Given the description of an element on the screen output the (x, y) to click on. 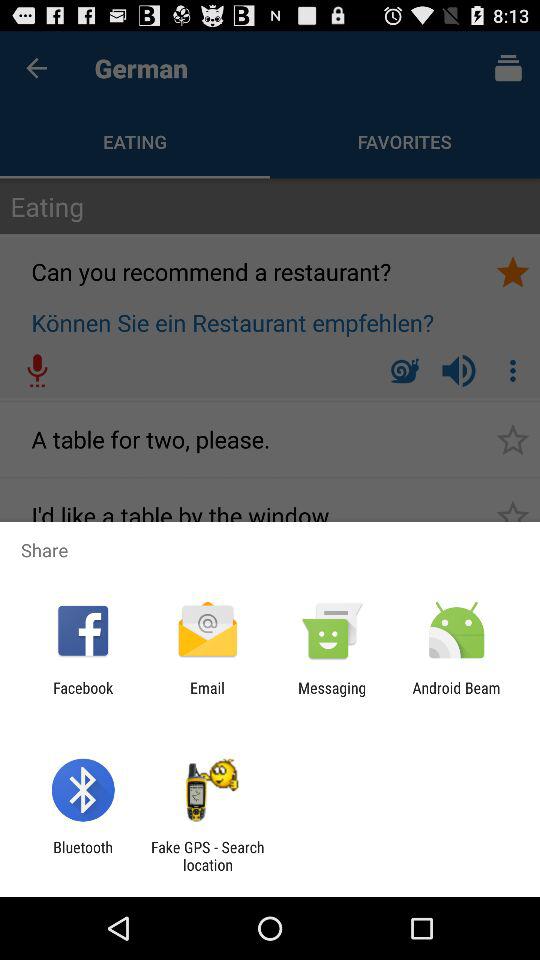
turn off the fake gps search item (207, 856)
